Given the description of an element on the screen output the (x, y) to click on. 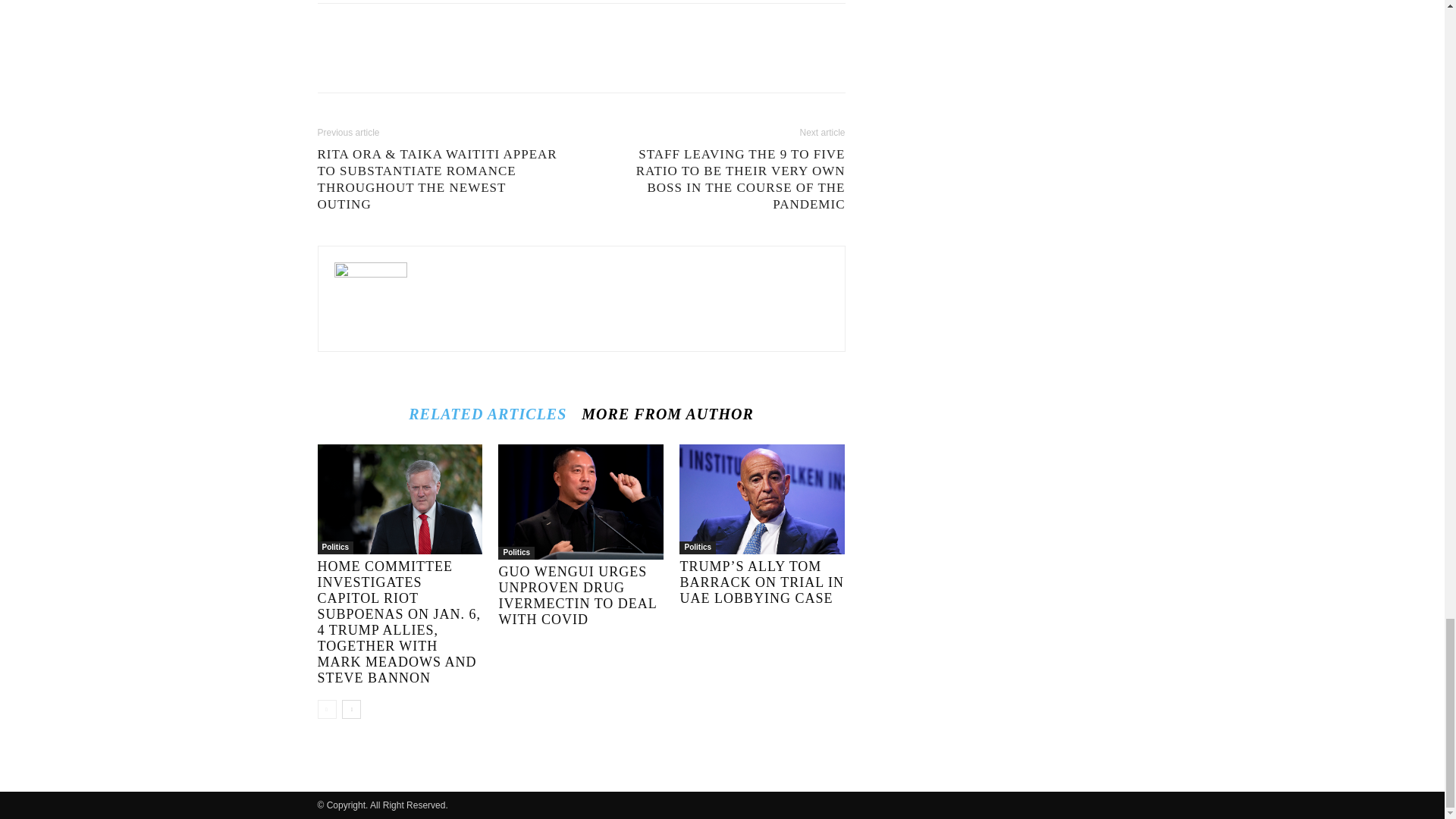
Guo Wengui urges unproven drug ivermectin to deal with Covid (576, 595)
Guo Wengui urges unproven drug ivermectin to deal with Covid (580, 501)
